Given the description of an element on the screen output the (x, y) to click on. 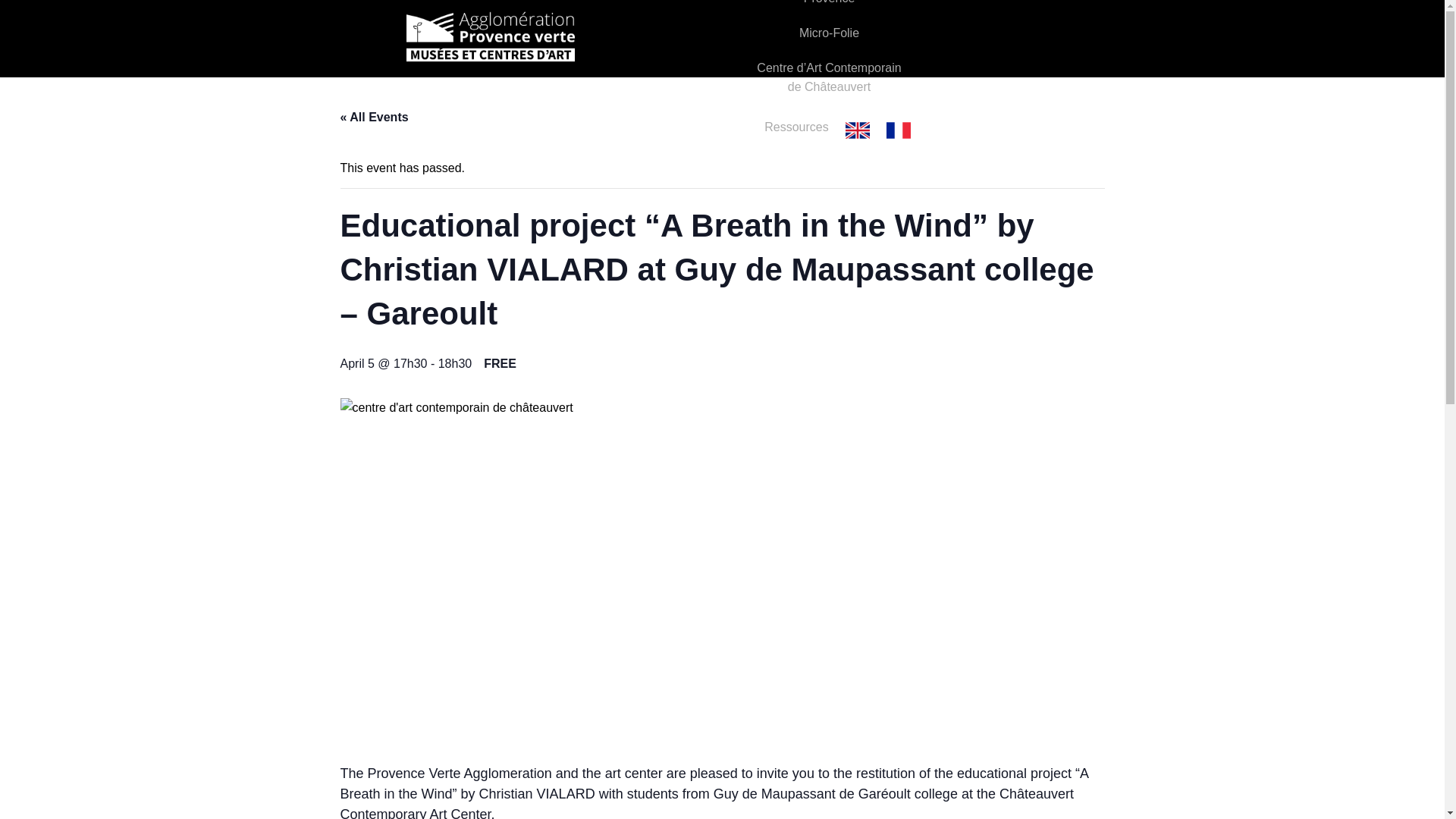
About WordPress (15, 31)
Ressources (796, 127)
Micro-Folie (829, 33)
